Given the description of an element on the screen output the (x, y) to click on. 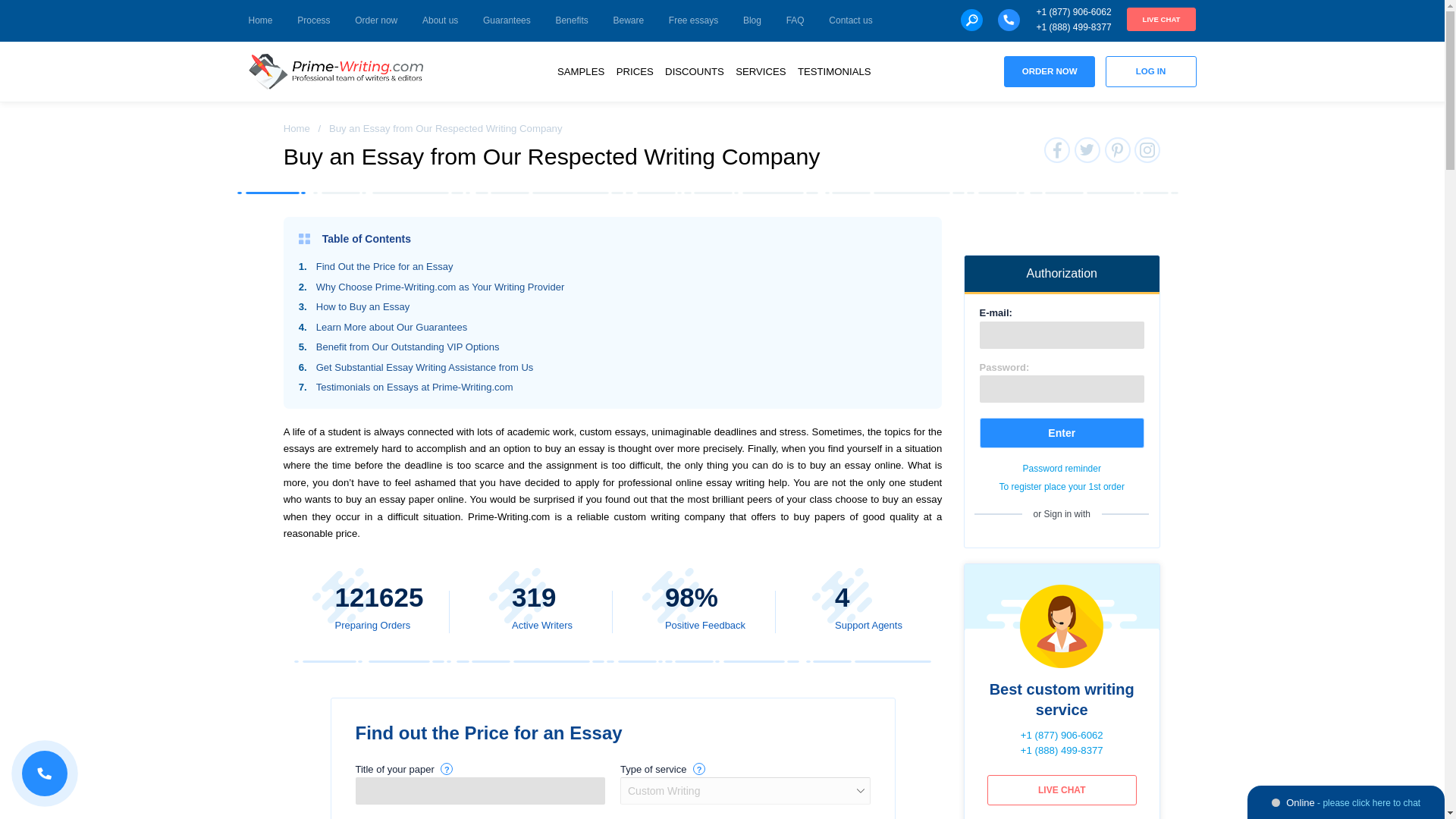
TESTIMONIALS (834, 71)
Free essays (692, 20)
Home (296, 128)
DISCOUNTS (694, 71)
Enter (1061, 432)
Enter (1061, 432)
SERVICES (760, 71)
PRICES (634, 71)
LOG IN (1150, 71)
prime-writing.com (335, 71)
Guarantees (507, 20)
Contact us (850, 20)
SAMPLES (580, 71)
